Given the description of an element on the screen output the (x, y) to click on. 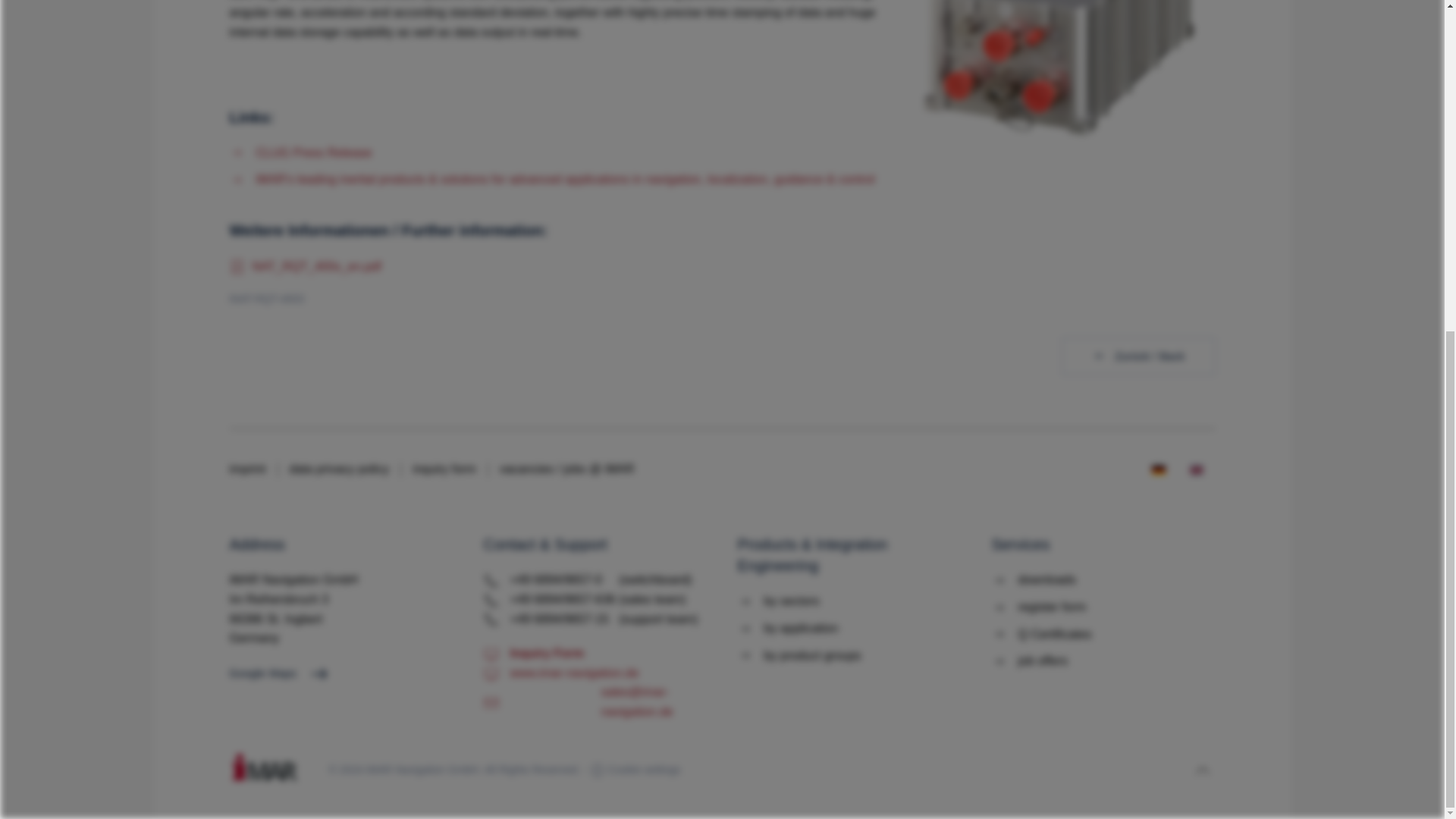
Deutsch (1157, 470)
iNAT-RQT-4003 (304, 266)
English (1195, 470)
